Given the description of an element on the screen output the (x, y) to click on. 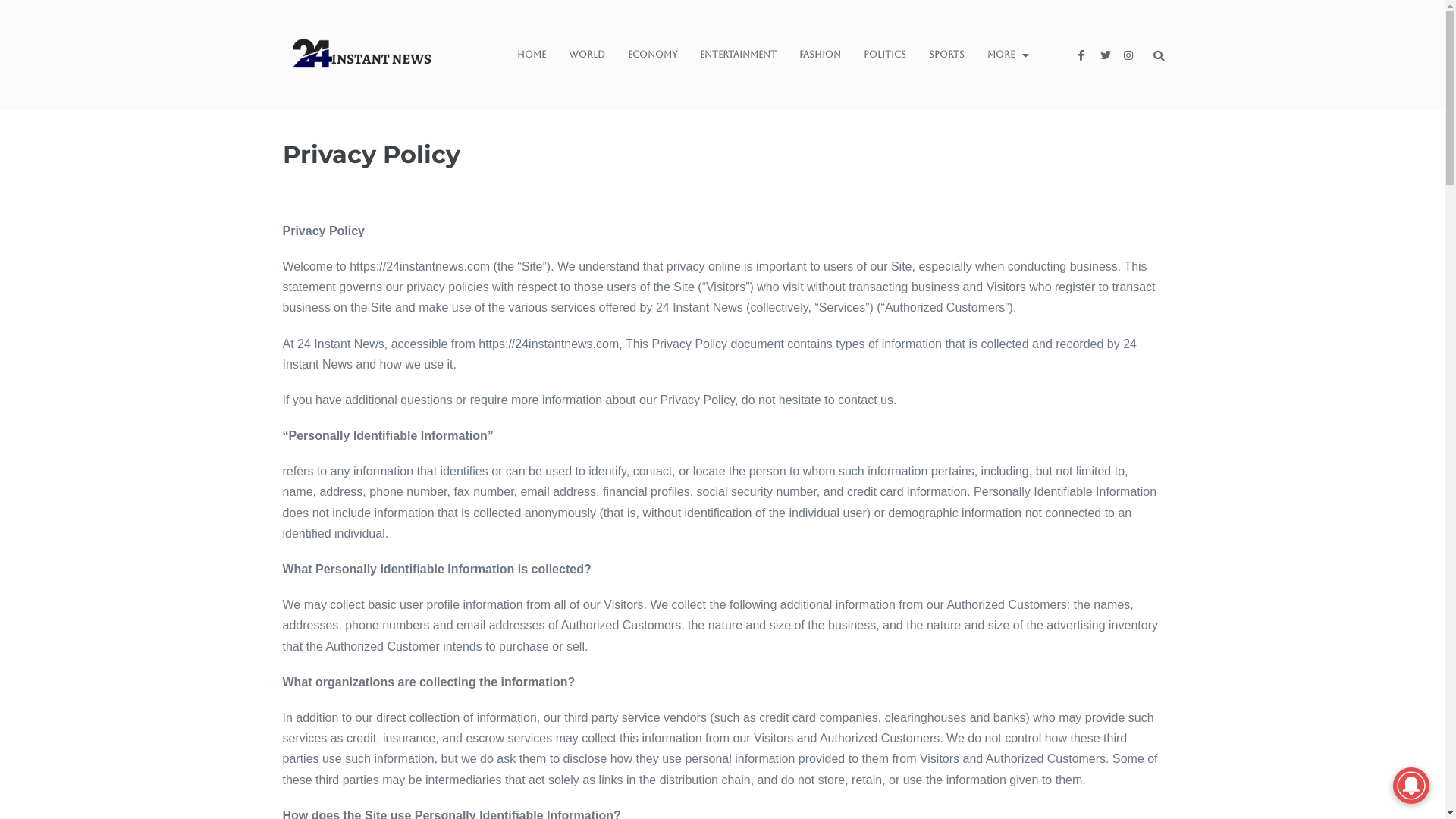
Home Element type: text (531, 54)
Sports Element type: text (946, 54)
Entertainment Element type: text (737, 54)
Economy Element type: text (652, 54)
Fashion Element type: text (819, 54)
World Element type: text (586, 54)
More Element type: text (1007, 54)
Politics Element type: text (884, 54)
